Given the description of an element on the screen output the (x, y) to click on. 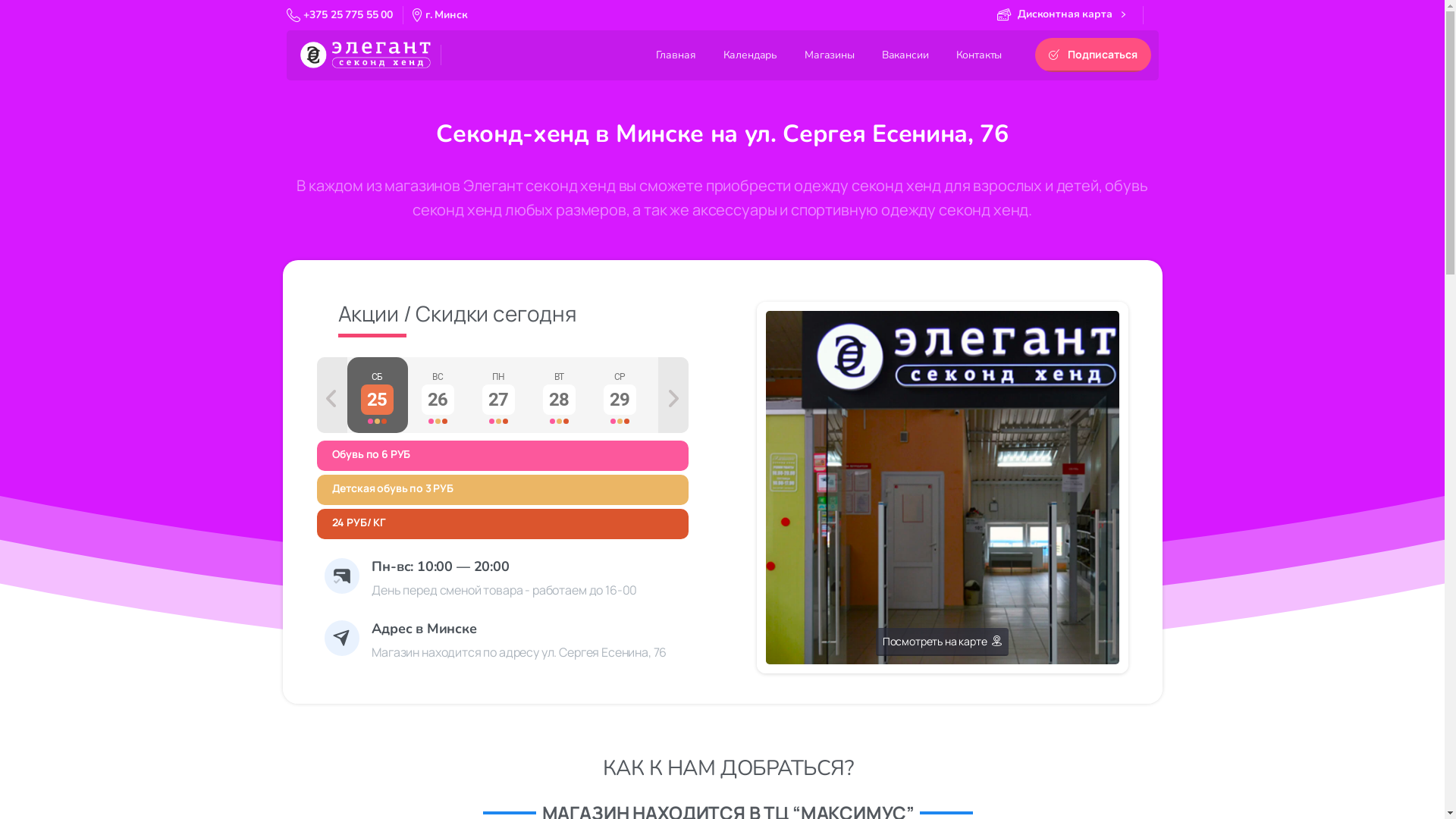
+375 25 775 55 00 Element type: text (339, 14)
